Given the description of an element on the screen output the (x, y) to click on. 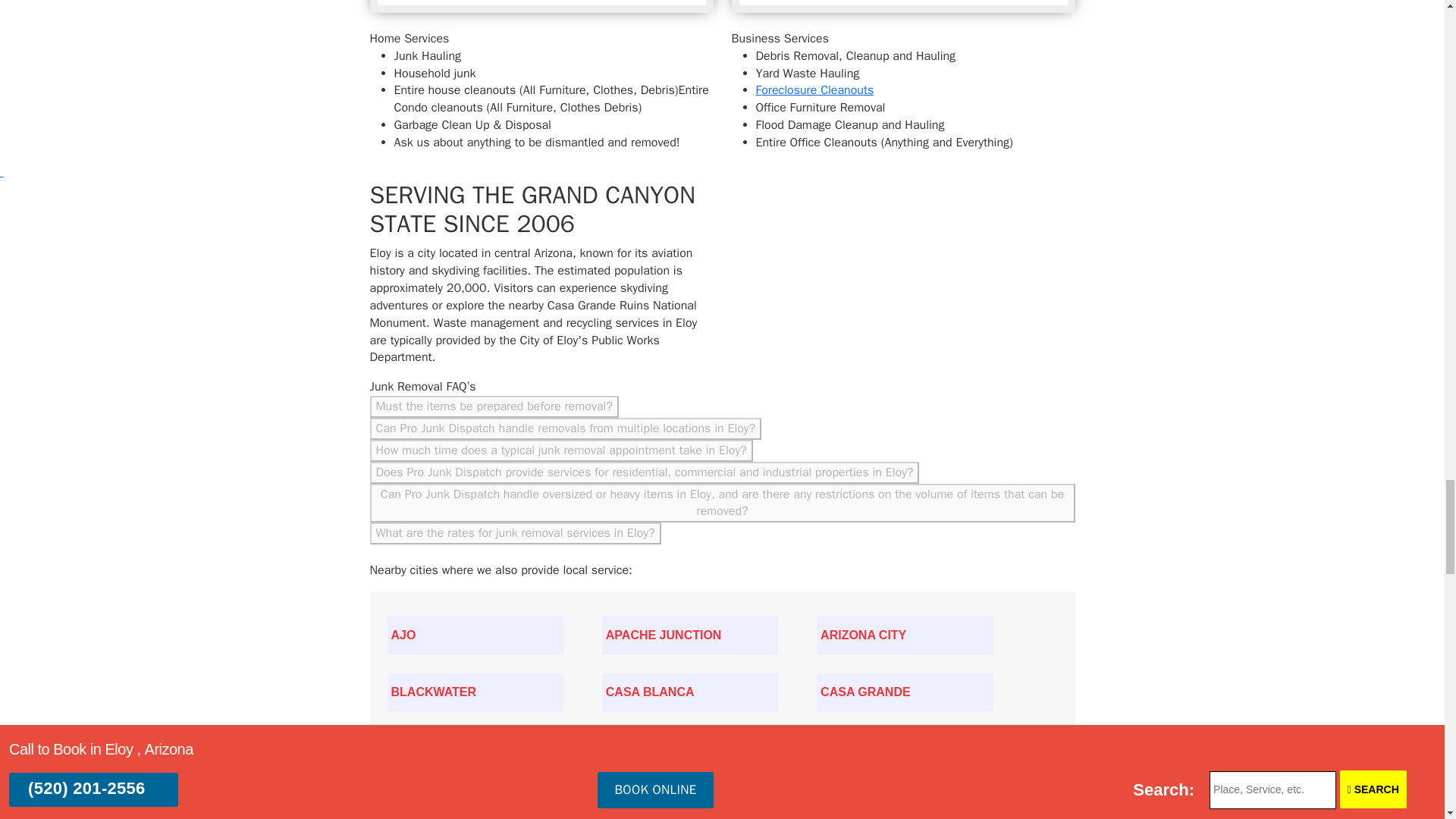
Pinal County AZ - City of Casa Blanca (690, 692)
Pinal County AZ - City of Blackwater (475, 692)
Pro Junk Dispatch Garage Cleanout video (541, 6)
Pima County AZ - City of Ajo (475, 635)
Pinal County AZ - City of Coolidge (475, 749)
Pinal County AZ - City of Apache Junction (690, 635)
Pro Junk Dispatch art drawing of State of Arizona (852, 271)
Pro Junk Dispatch trash cleanout video (902, 6)
Pinal County AZ - City of Arizona City (904, 635)
